Given the description of an element on the screen output the (x, y) to click on. 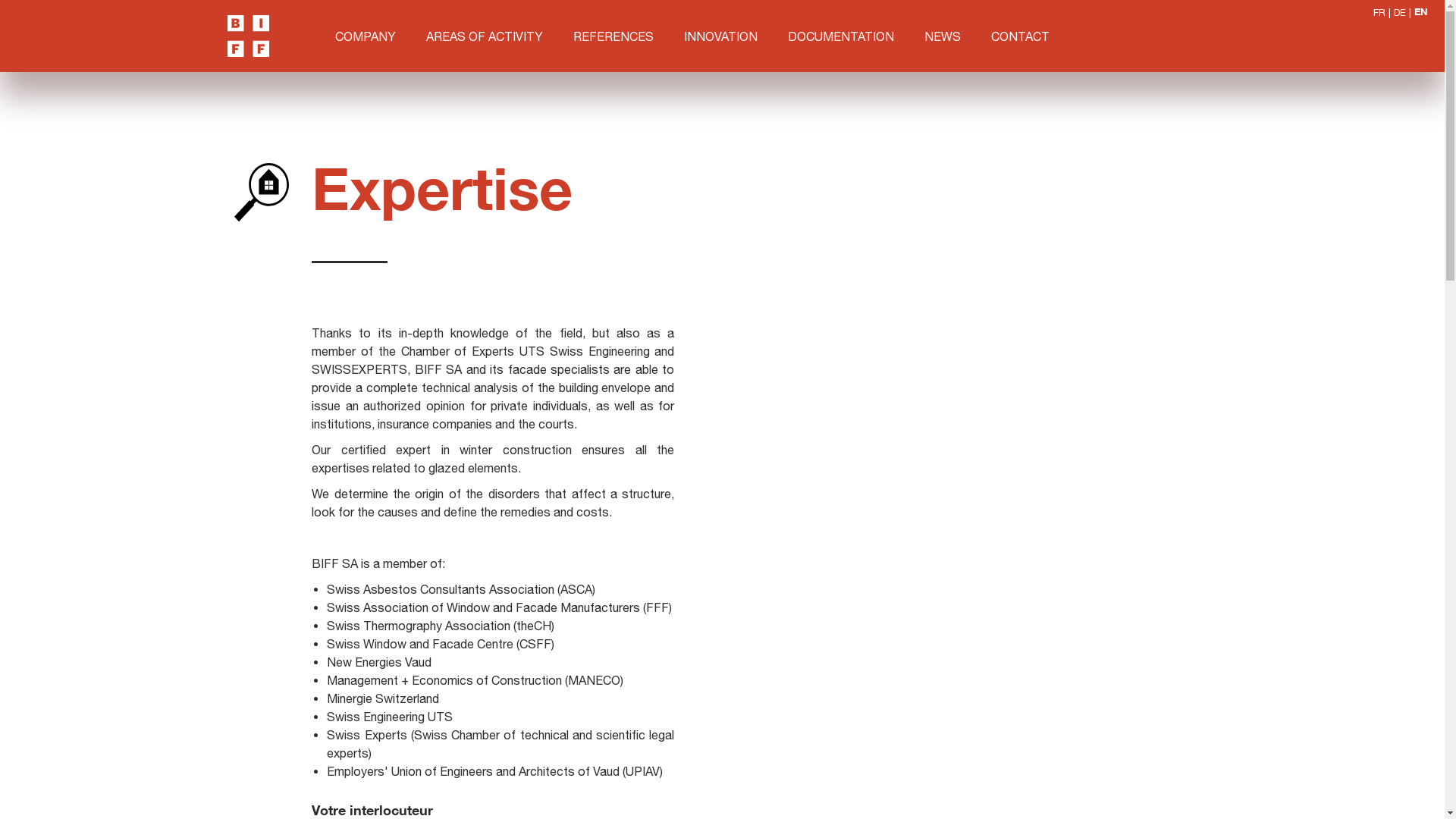
DE Element type: text (1399, 12)
EN Element type: text (1420, 12)
INNOVATION Element type: text (720, 35)
COMPANY Element type: text (365, 35)
DOCUMENTATION Element type: text (840, 35)
CONTACT Element type: text (1020, 35)
NEWS Element type: text (942, 35)
FR Element type: text (1379, 12)
AREAS OF ACTIVITY Element type: text (484, 35)
REFERENCES Element type: text (613, 35)
